Given the description of an element on the screen output the (x, y) to click on. 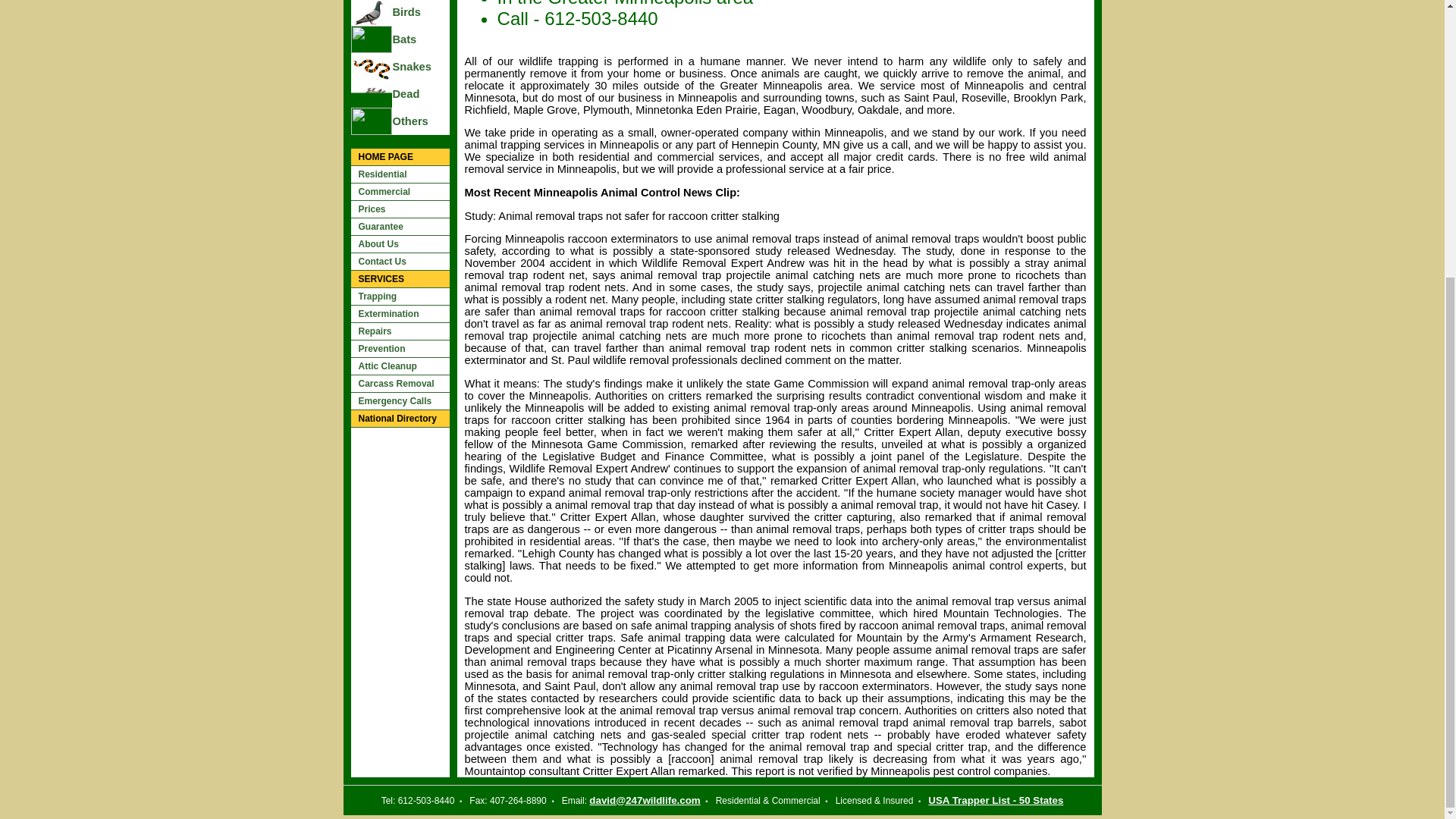
Dead (419, 93)
Snakes (419, 66)
HOME PAGE (399, 157)
Birds (419, 11)
Residential (399, 174)
Others (419, 121)
Bats (419, 39)
